Given the description of an element on the screen output the (x, y) to click on. 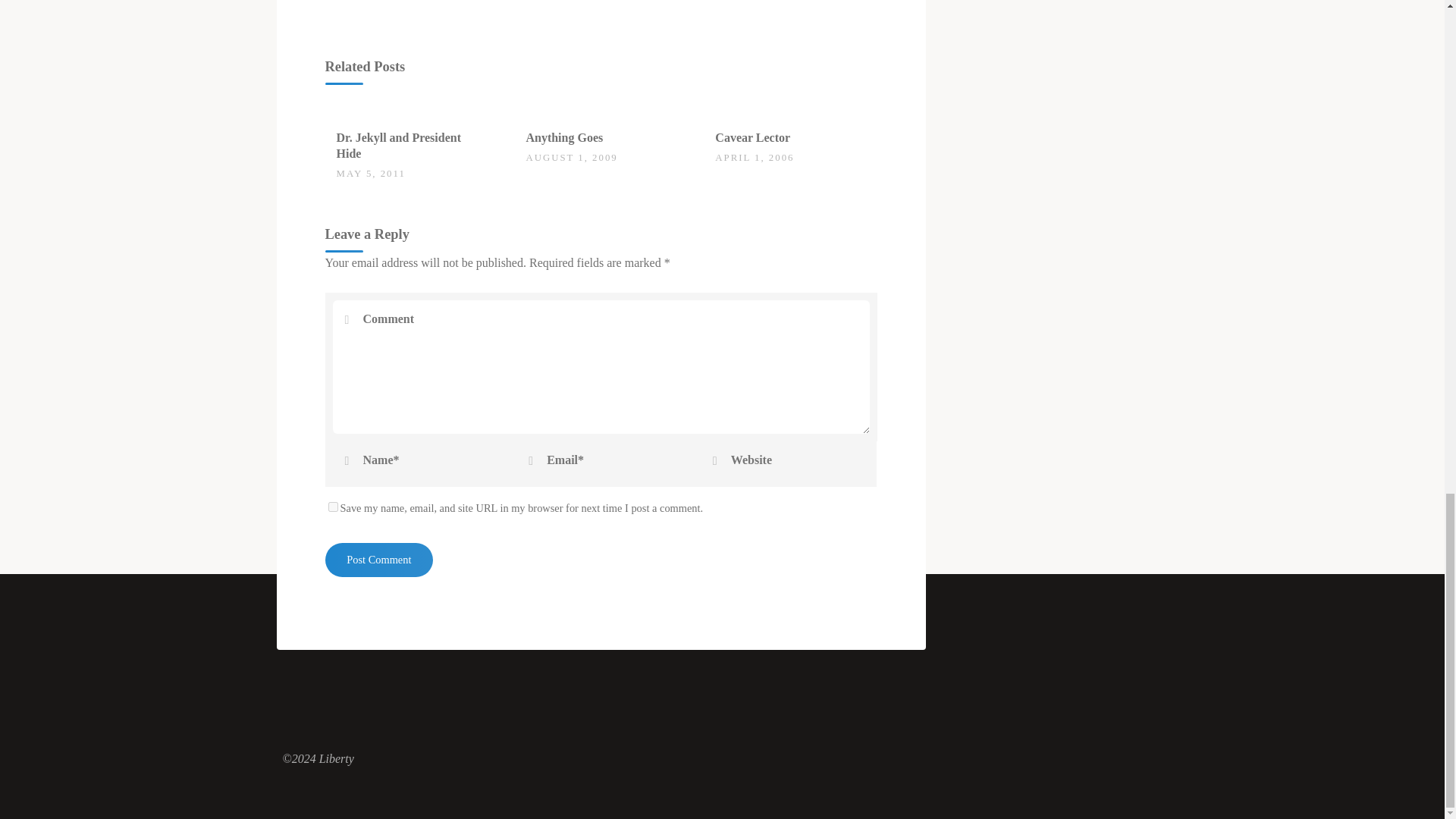
0 (533, 130)
Post Comment (378, 560)
yes (332, 506)
0 (344, 130)
Dr. Jekyll and President Hide (398, 145)
